Given the description of an element on the screen output the (x, y) to click on. 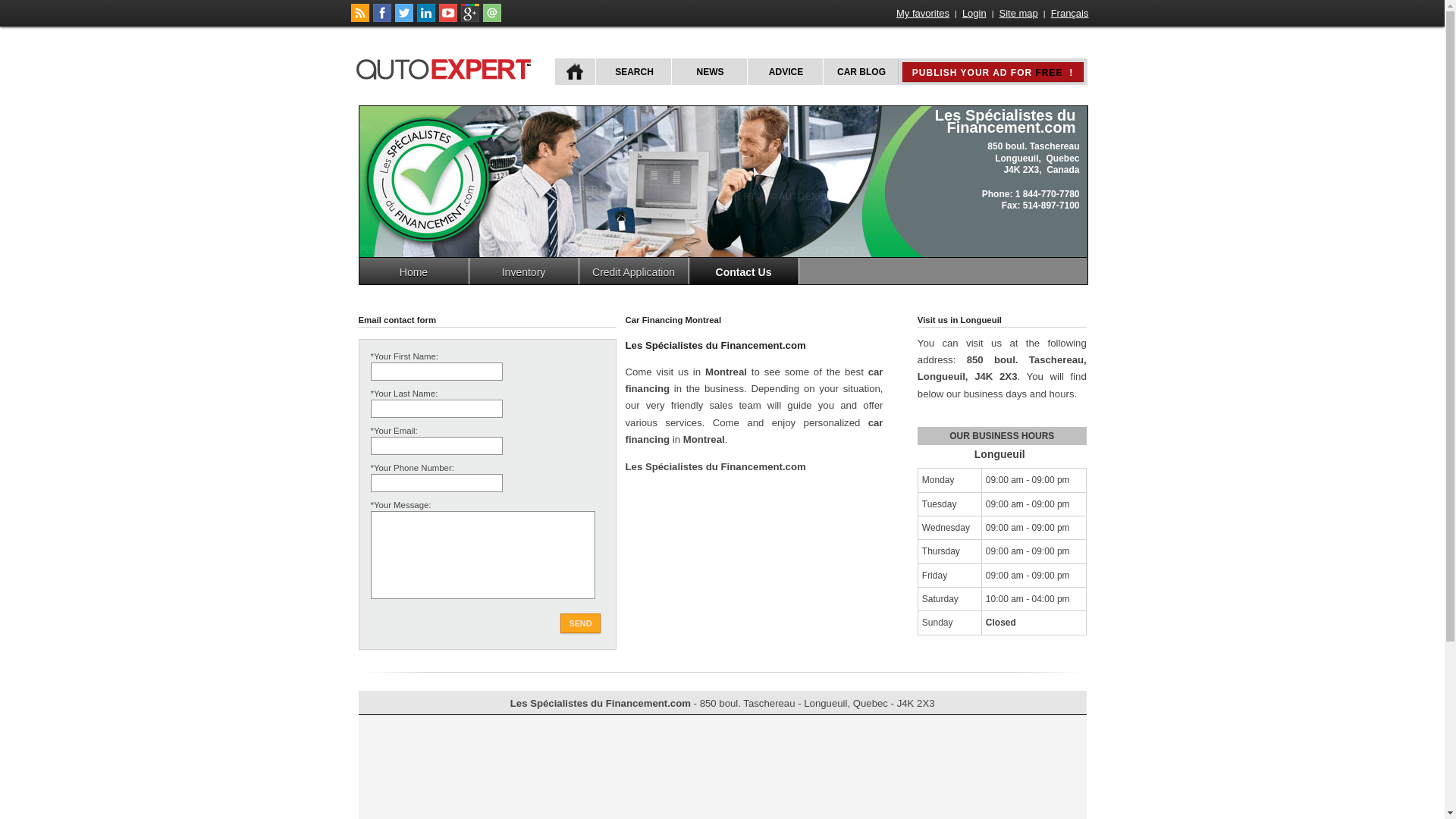
Contact Us Element type: text (743, 270)
Send Element type: text (579, 623)
Follow autoExpert.ca on Youtube Element type: hover (447, 18)
Home Element type: text (414, 270)
CAR BLOG Element type: text (859, 71)
Contact autoExpert.ca Element type: hover (491, 18)
SEARCH Element type: text (632, 71)
Inventory Element type: text (523, 270)
Credit Application Element type: text (634, 270)
Site map Element type: text (1018, 13)
NEWS Element type: text (708, 71)
My favorites Element type: text (922, 13)
Login Element type: text (974, 13)
Follow autoExpert.ca on Facebook Element type: hover (382, 18)
HOME Element type: text (575, 71)
PUBLISH YOUR AD FOR FREE  ! Element type: text (992, 71)
Follow autoExpert.ca on Google Plus Element type: hover (470, 18)
Follow autoExpert.ca on Twitter Element type: hover (403, 18)
ADVICE Element type: text (784, 71)
Follow car news on autoExpert.ca Element type: hover (359, 18)
autoExpert.ca Element type: text (446, 66)
Follow Publications Le Guide Inc. on LinkedIn Element type: hover (426, 18)
